Given the description of an element on the screen output the (x, y) to click on. 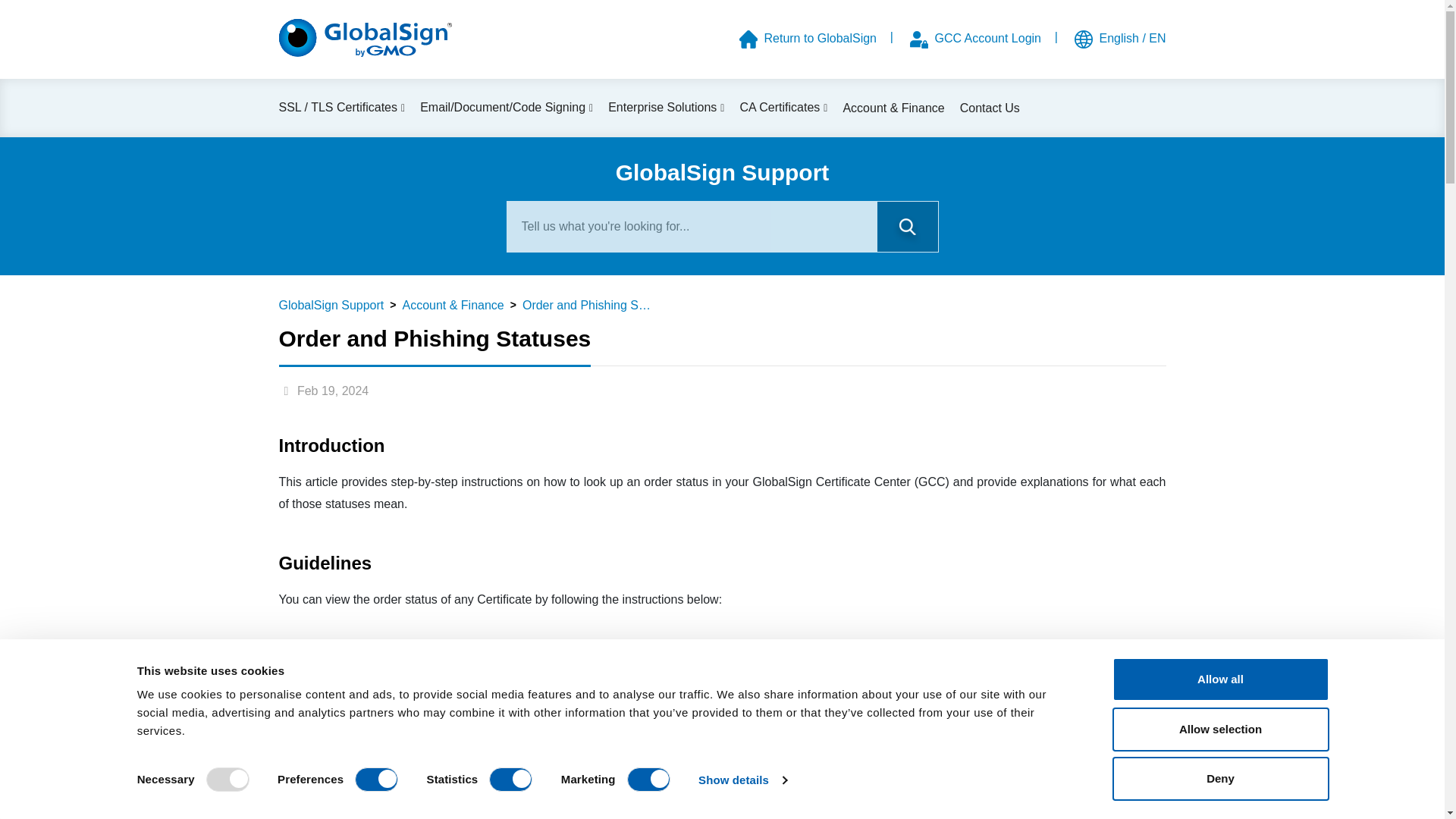
Show details (742, 780)
